Given the description of an element on the screen output the (x, y) to click on. 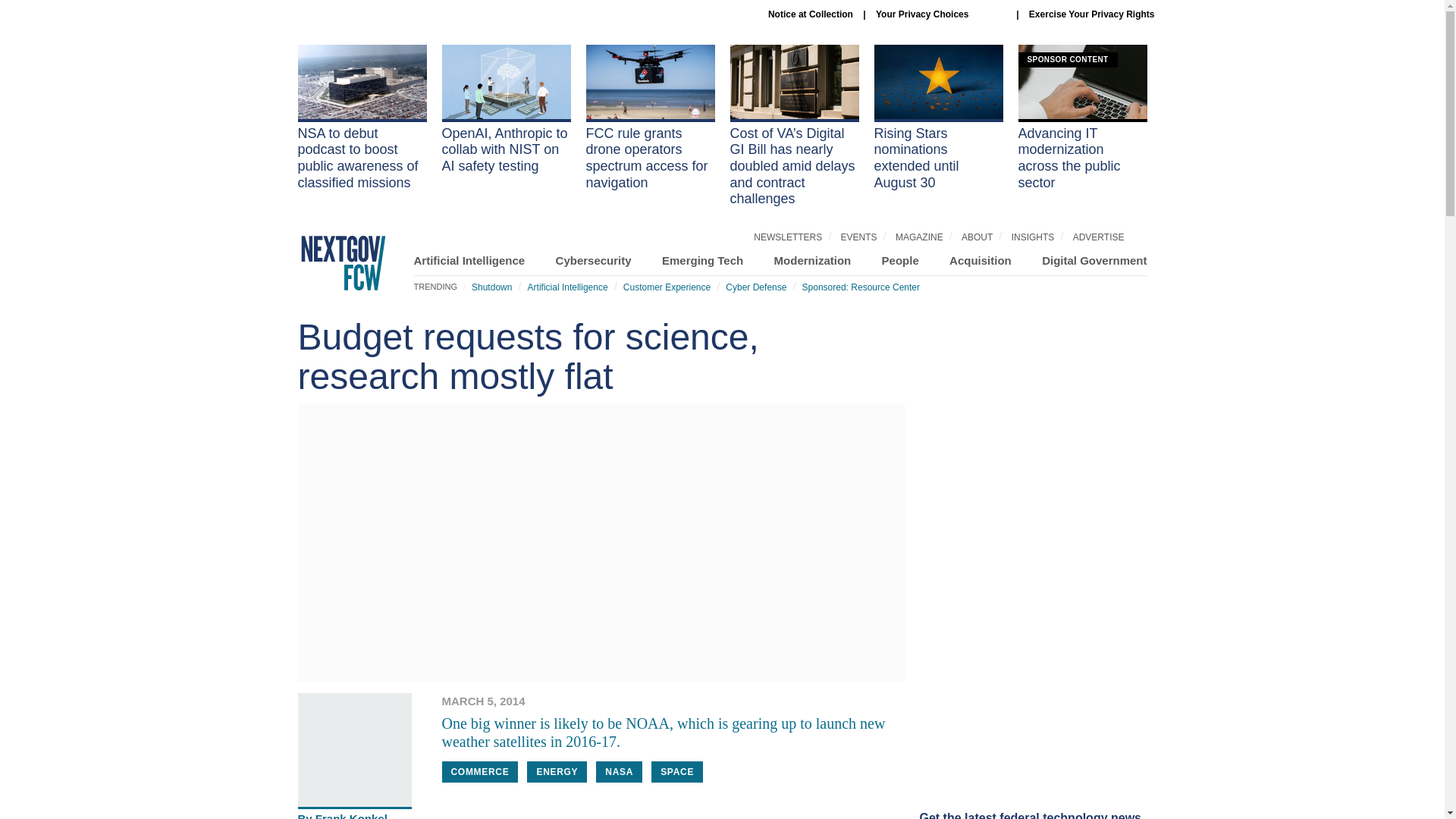
Artificial Intelligence (567, 286)
Notice at Collection (810, 14)
INSIGHTS (1032, 236)
Your Privacy Choices (941, 14)
Exercise Your Privacy Rights (1091, 14)
NEWSLETTERS (788, 236)
ABOUT (976, 236)
Customer Experience (666, 286)
EVENTS (859, 236)
Modernization (812, 259)
